Given the description of an element on the screen output the (x, y) to click on. 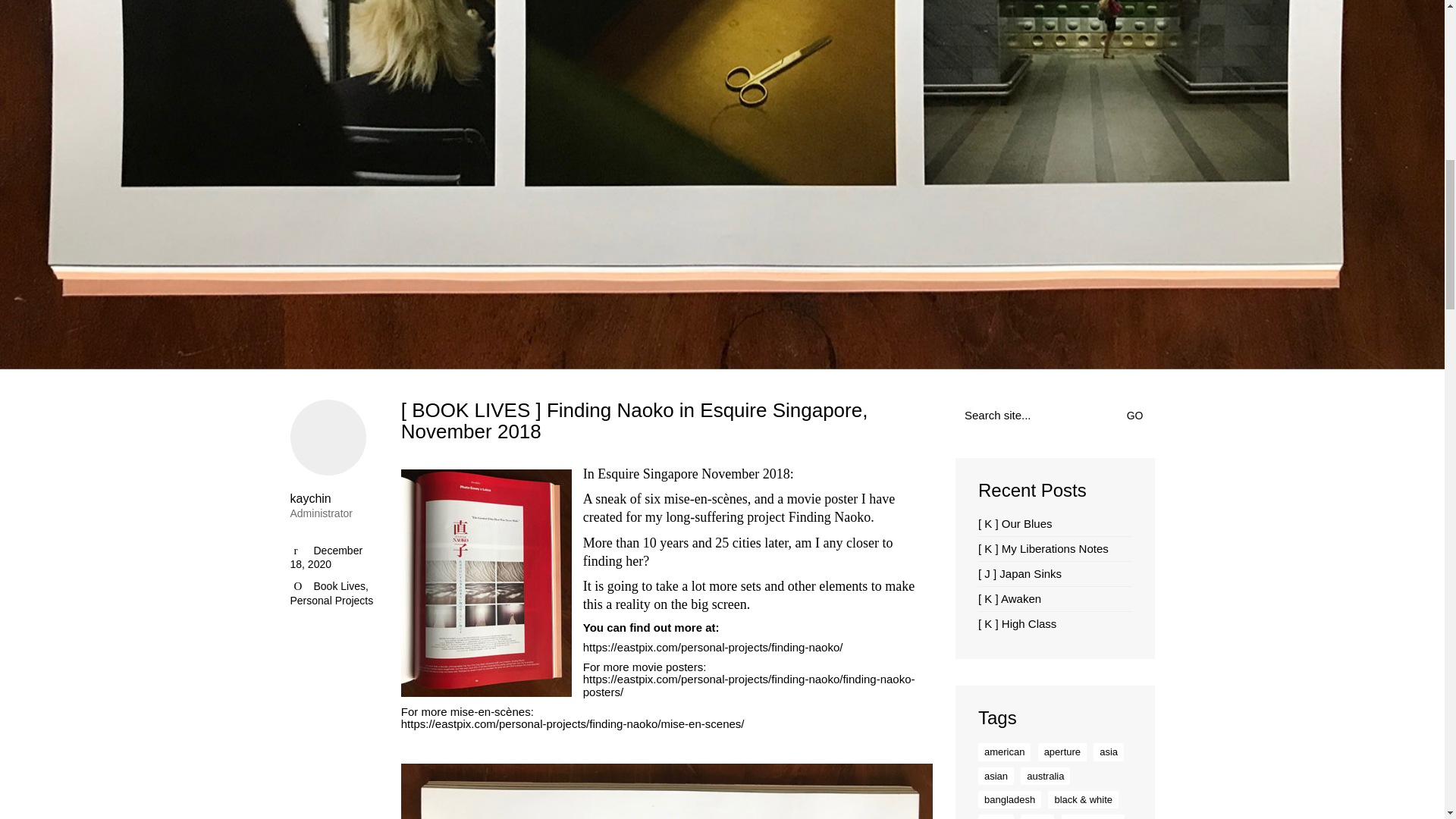
Go (1138, 415)
Search for: (1054, 415)
Go (1138, 415)
